Given the description of an element on the screen output the (x, y) to click on. 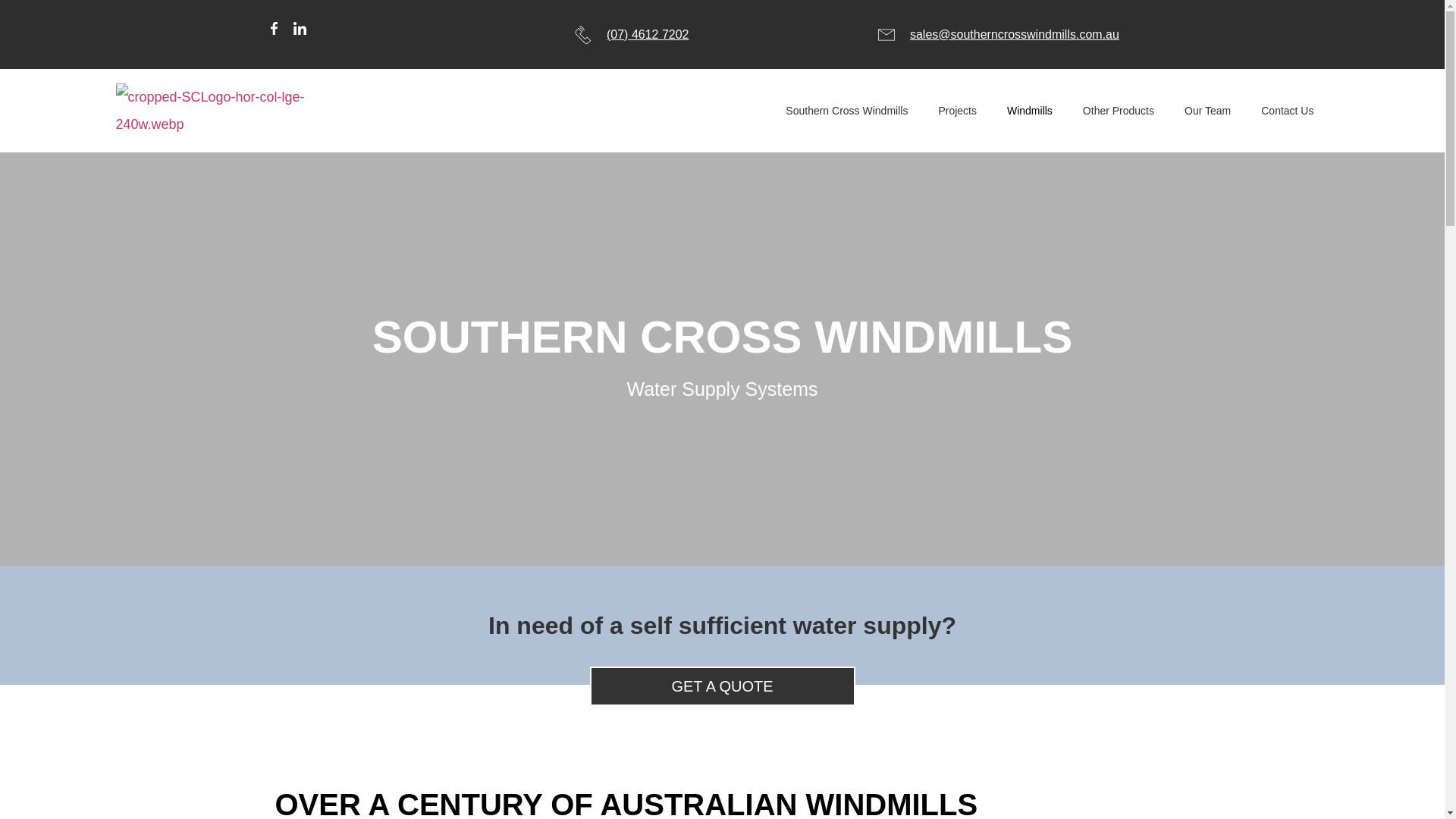
GET A QUOTE (722, 685)
Other Products (1118, 110)
Southern Cross Windmills (846, 110)
Windmills (1029, 110)
cropped-SCLogo-hor-col-lge-240w.webp (224, 110)
Contact Us (1286, 110)
Our Team (1207, 110)
Projects (957, 110)
